Given the description of an element on the screen output the (x, y) to click on. 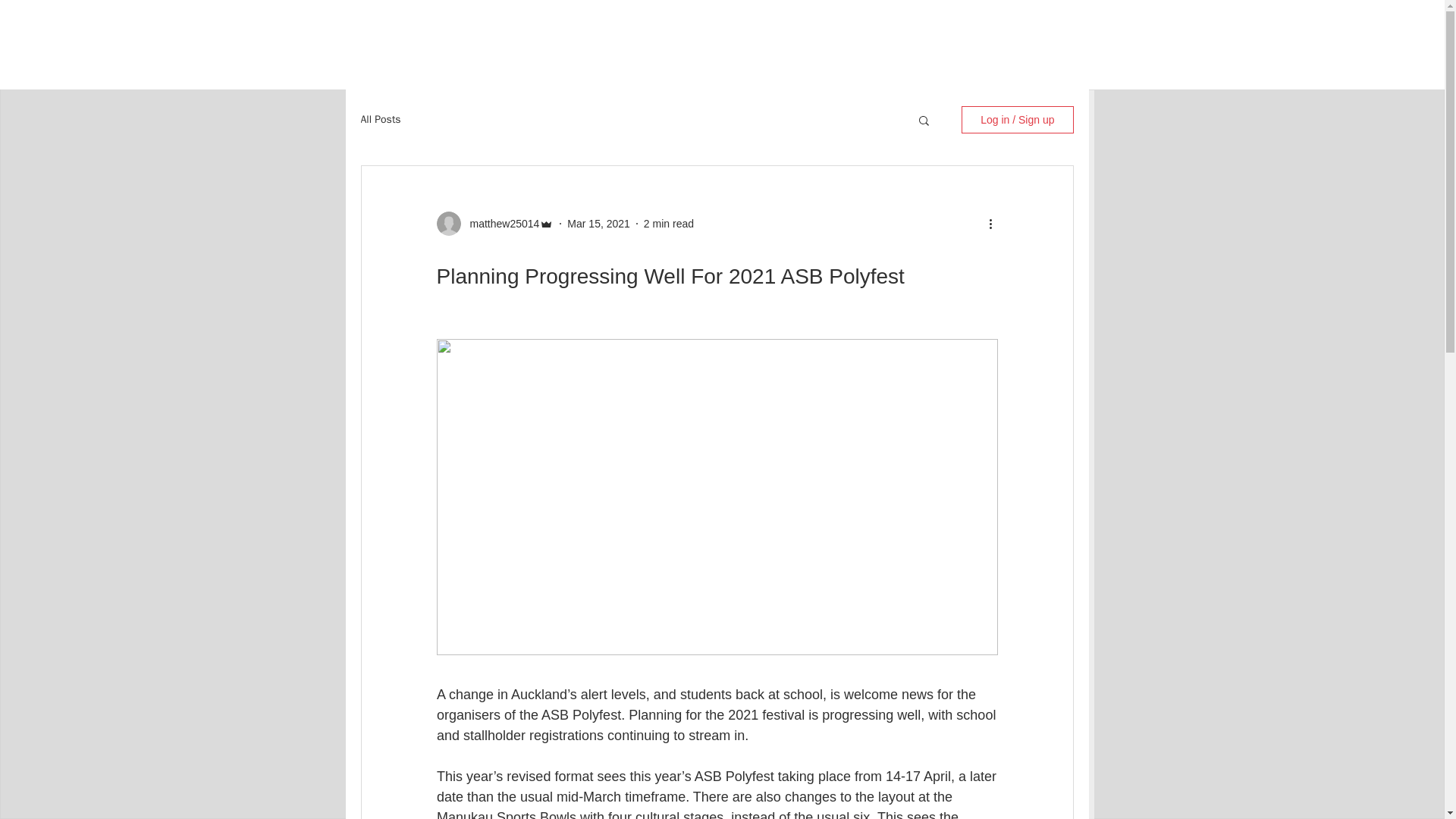
Mar 15, 2021 (598, 223)
2 min read (668, 223)
All Posts (381, 119)
matthew25014 (500, 222)
